Given the description of an element on the screen output the (x, y) to click on. 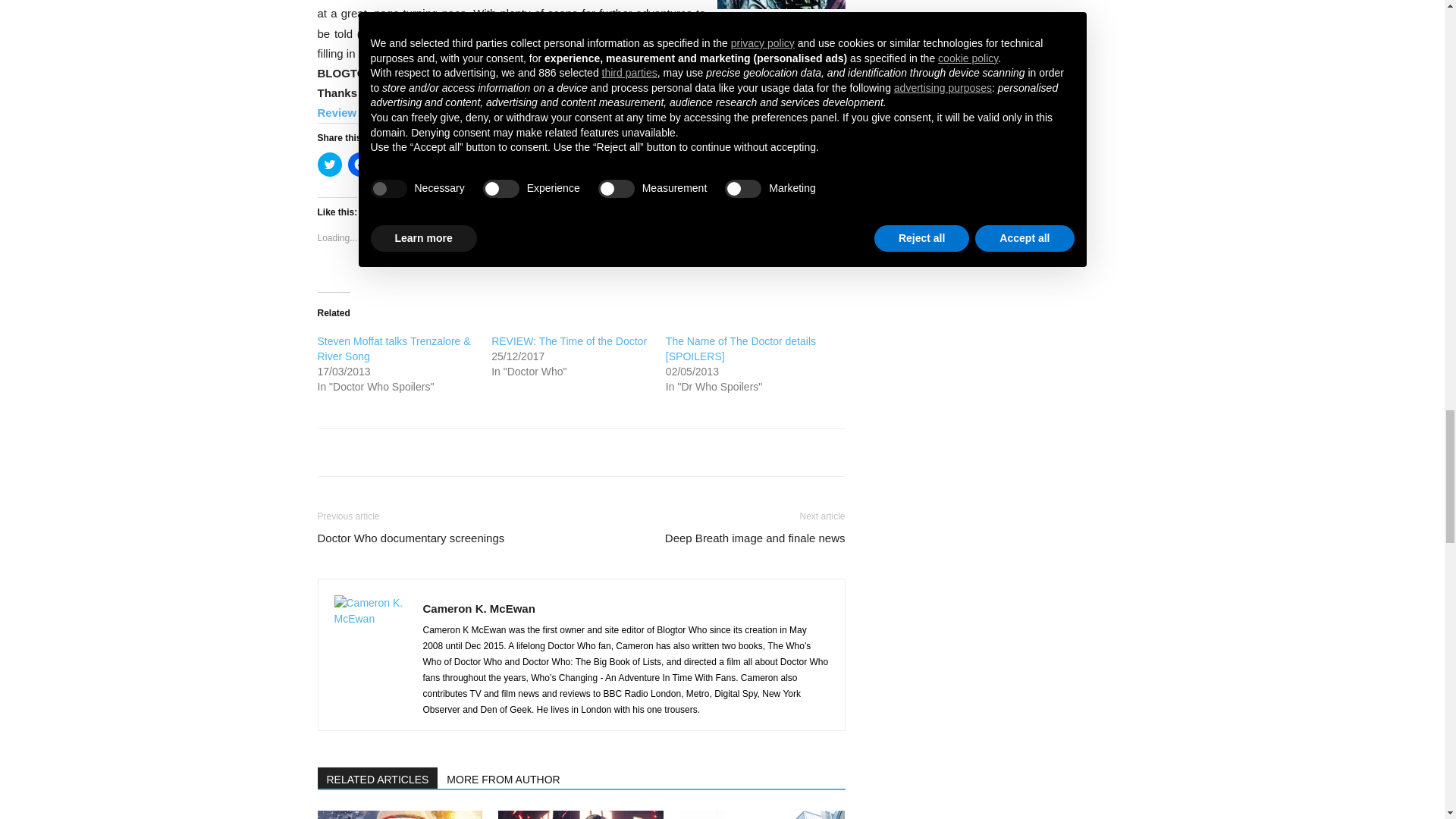
Click to share on Twitter (328, 164)
Review by Nick Fraser (377, 112)
